Given the description of an element on the screen output the (x, y) to click on. 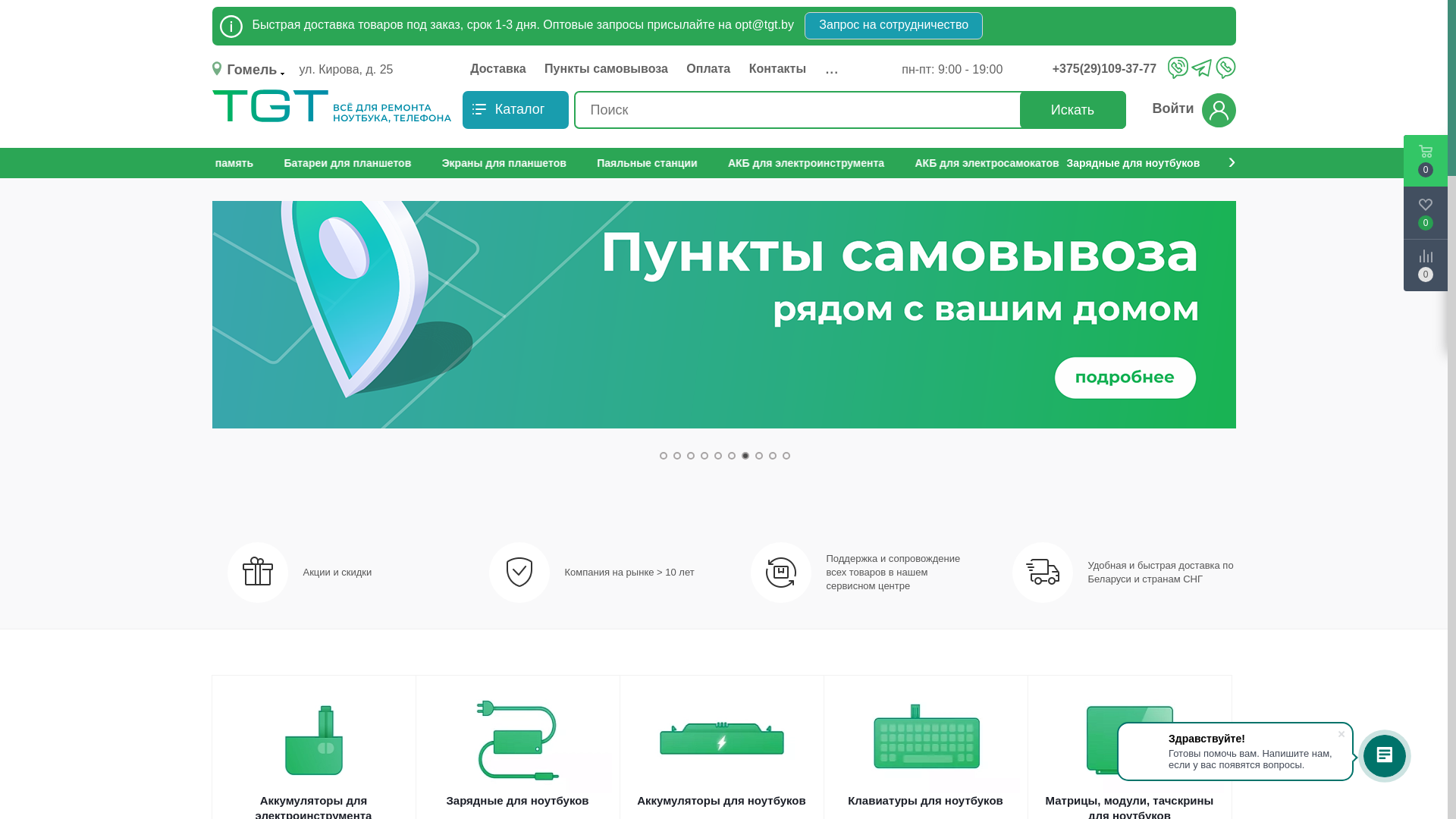
10 Element type: text (786, 455)
6 Element type: text (731, 455)
8 Element type: text (758, 455)
whatsapp Element type: hover (1224, 67)
viber Element type: hover (1177, 67)
7 Element type: text (745, 455)
opt@tgt.by Element type: text (763, 24)
3 Element type: text (690, 455)
telegram Element type: hover (1201, 68)
4 Element type: text (704, 455)
5 Element type: text (717, 455)
1 Element type: text (663, 455)
+375(29)109-37-77 Element type: text (1108, 68)
2 Element type: text (676, 455)
9 Element type: text (772, 455)
